Given the description of an element on the screen output the (x, y) to click on. 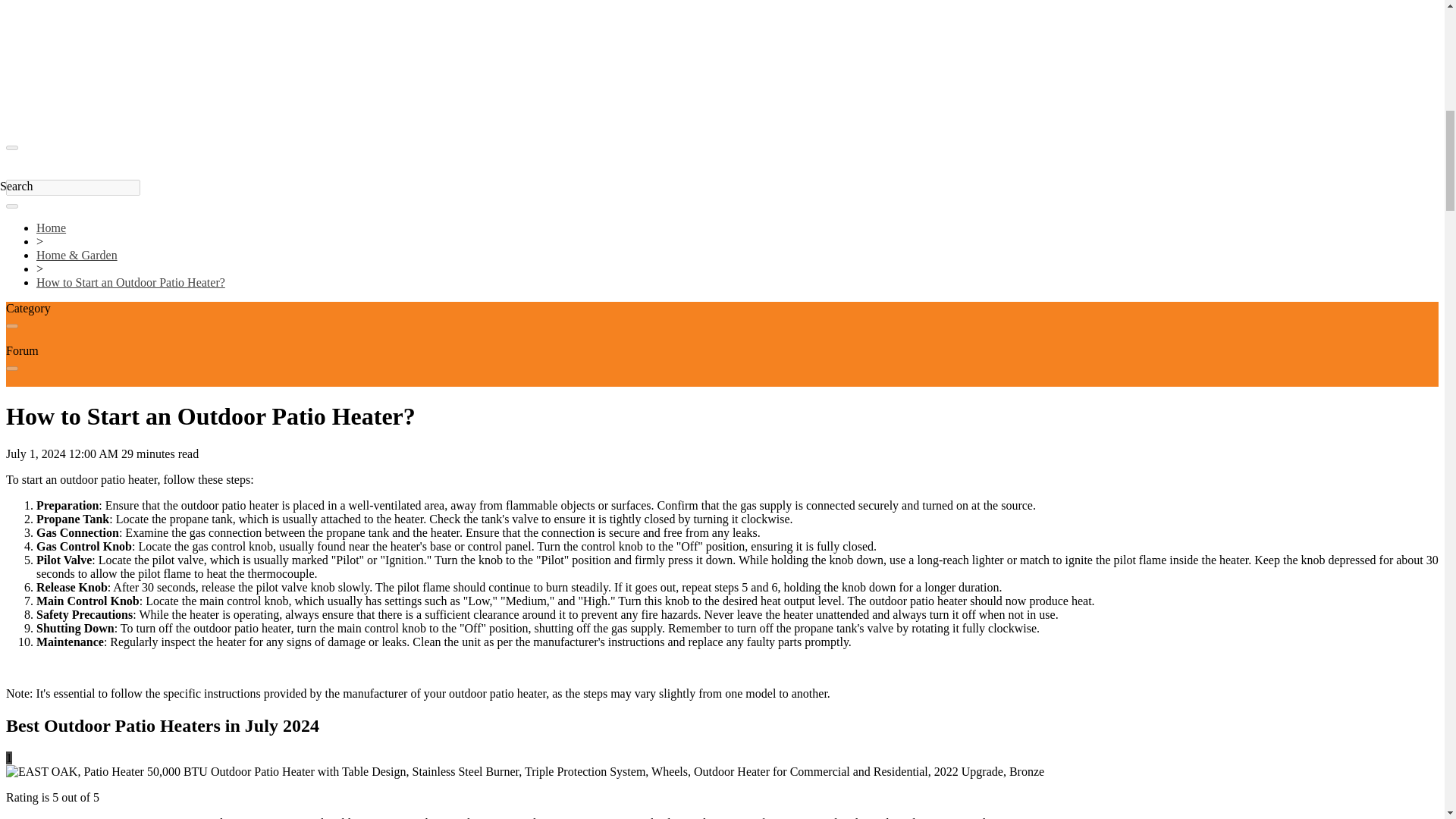
How to Start an Outdoor Patio Heater? (130, 282)
Home (50, 227)
